Given the description of an element on the screen output the (x, y) to click on. 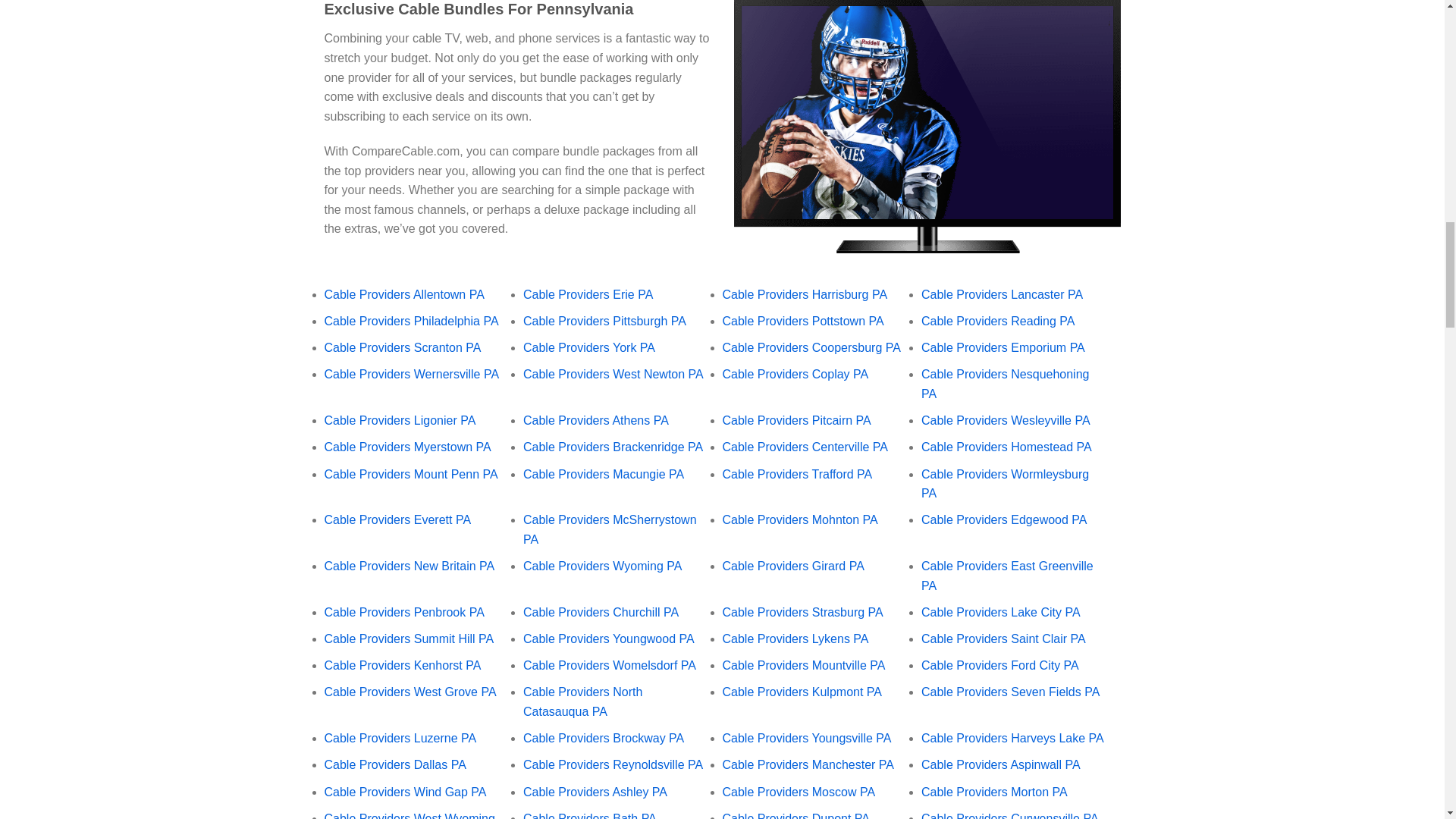
Cable Providers Trafford PA (797, 473)
Cable Providers Homestead PA (1006, 446)
Cable Providers Pittsburgh PA (603, 320)
Cable Providers Philadelphia PA (411, 320)
Cable Providers Centerville PA (804, 446)
Cable Providers Wernersville PA (411, 373)
Cable Providers Coopersburg PA (810, 347)
Cable Providers West Newton PA (612, 373)
Cable Providers Allentown PA (404, 294)
Cable Providers Myerstown PA (408, 446)
Cable Providers Pitcairn PA (796, 420)
Cable Providers Macungie PA (603, 473)
Cable Providers Scranton PA (402, 347)
Cable Providers Brackenridge PA (612, 446)
Cable Providers Athens PA (595, 420)
